Given the description of an element on the screen output the (x, y) to click on. 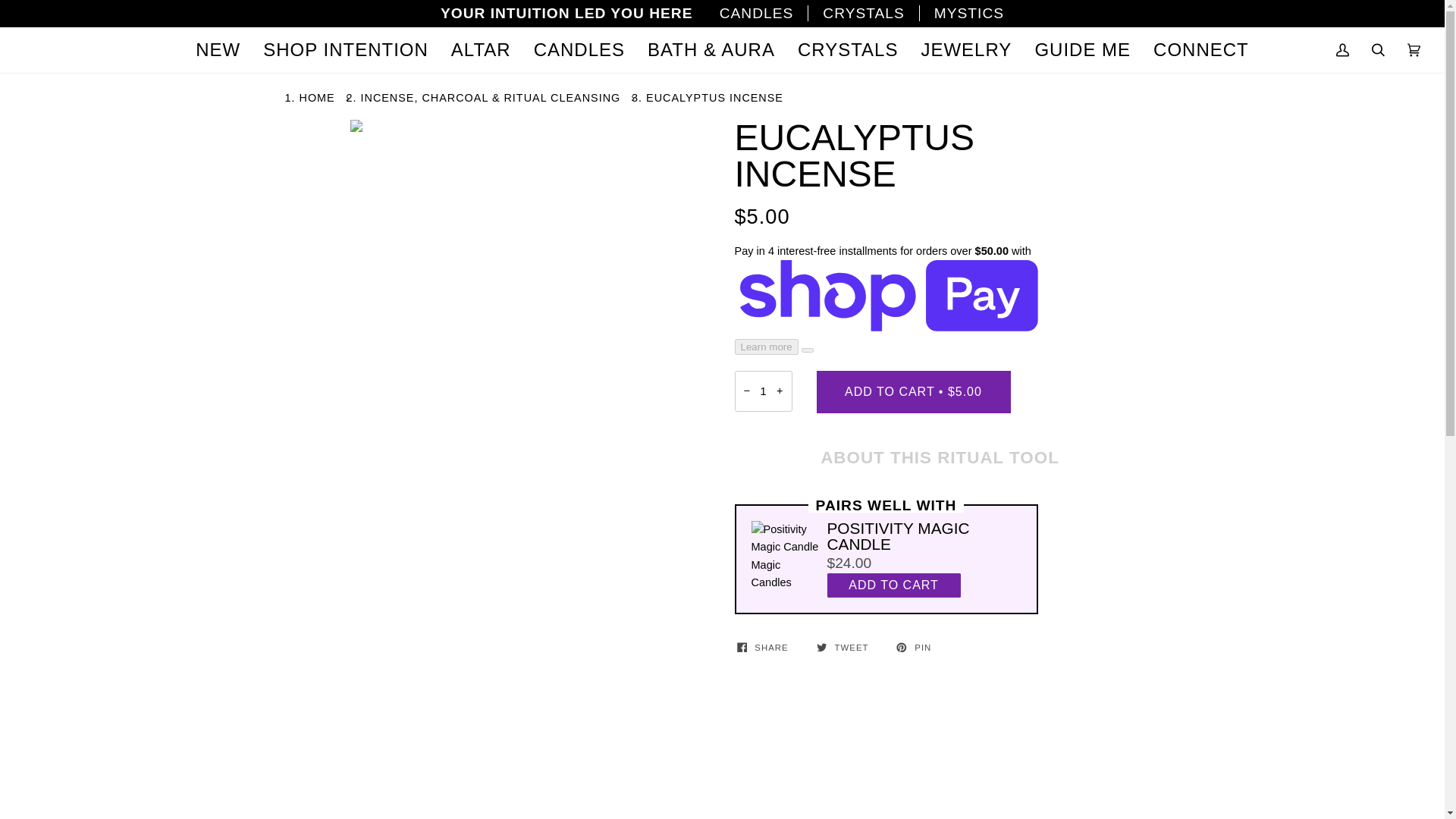
NEW (217, 49)
Back to the frontpage (318, 97)
SHOP INTENTION (345, 49)
1 (762, 391)
ALTAR (480, 49)
